Given the description of an element on the screen output the (x, y) to click on. 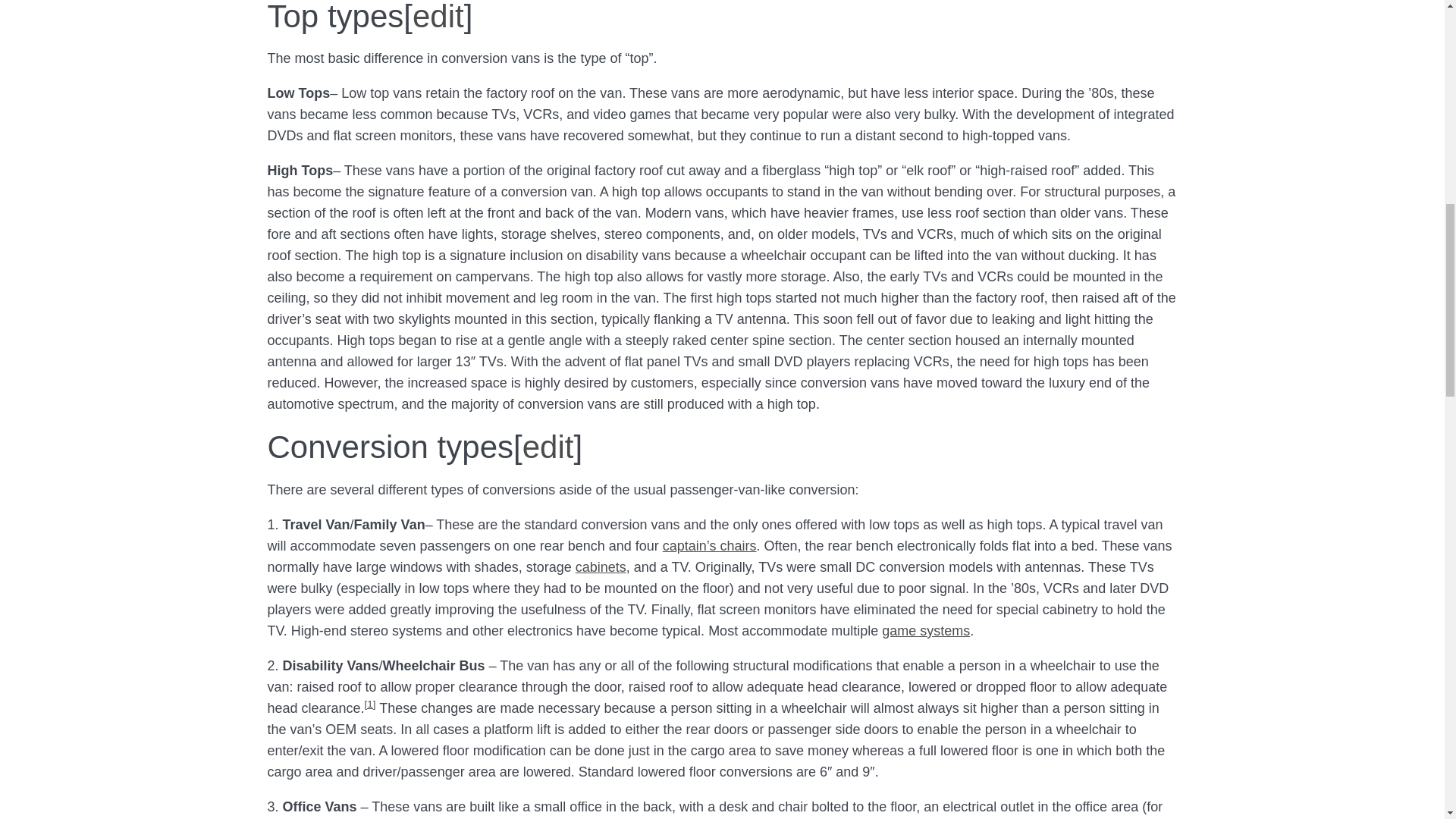
game systems (925, 630)
cabinets (600, 566)
edit (547, 447)
edit (438, 17)
